Given the description of an element on the screen output the (x, y) to click on. 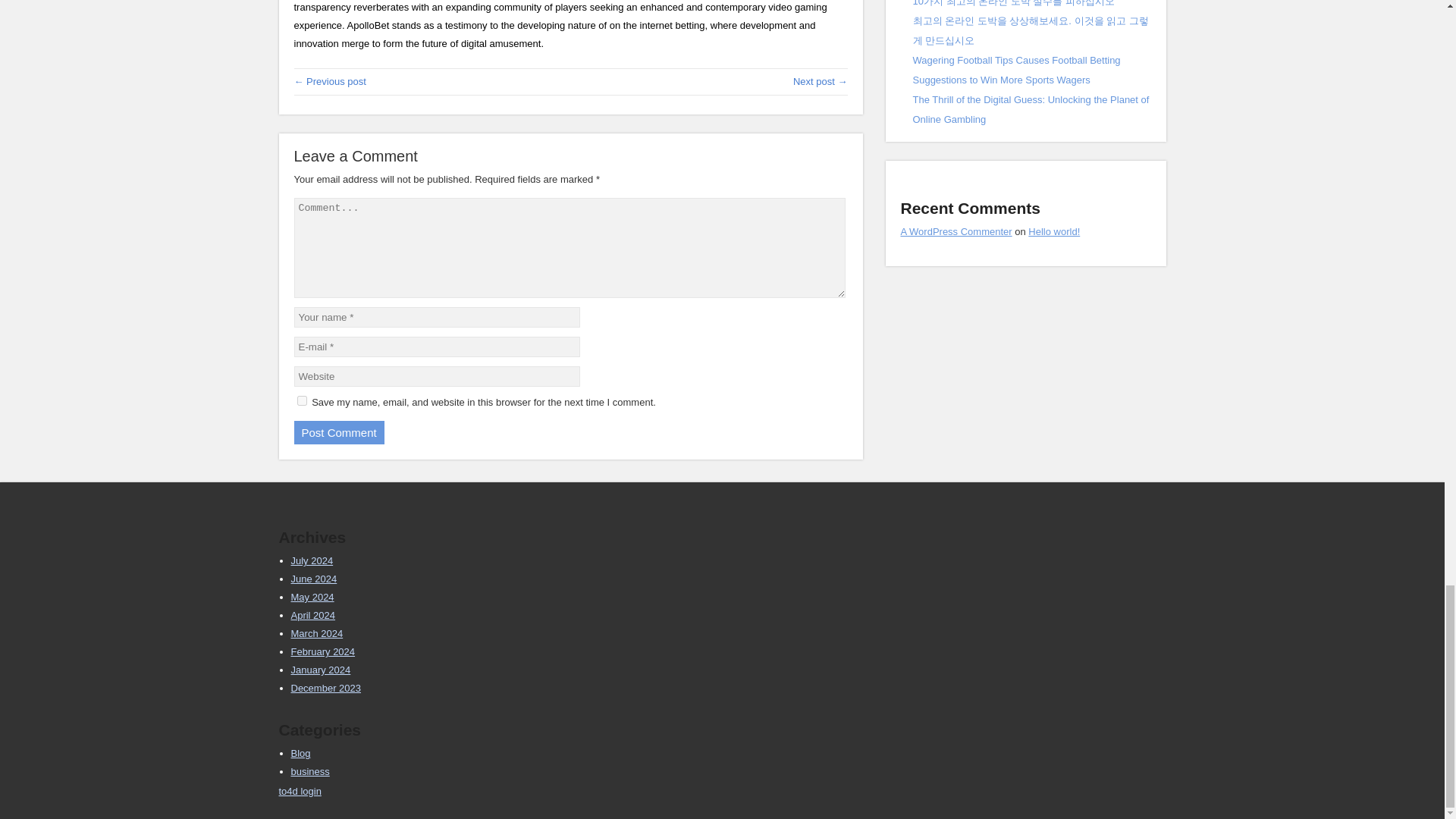
Post Comment (339, 432)
yes (302, 400)
Why The Movie "After Earth" Is Important (330, 81)
Obtaining The Greatest On-line Gambling Gives And Promotions (820, 81)
Post Comment (339, 432)
